Given the description of an element on the screen output the (x, y) to click on. 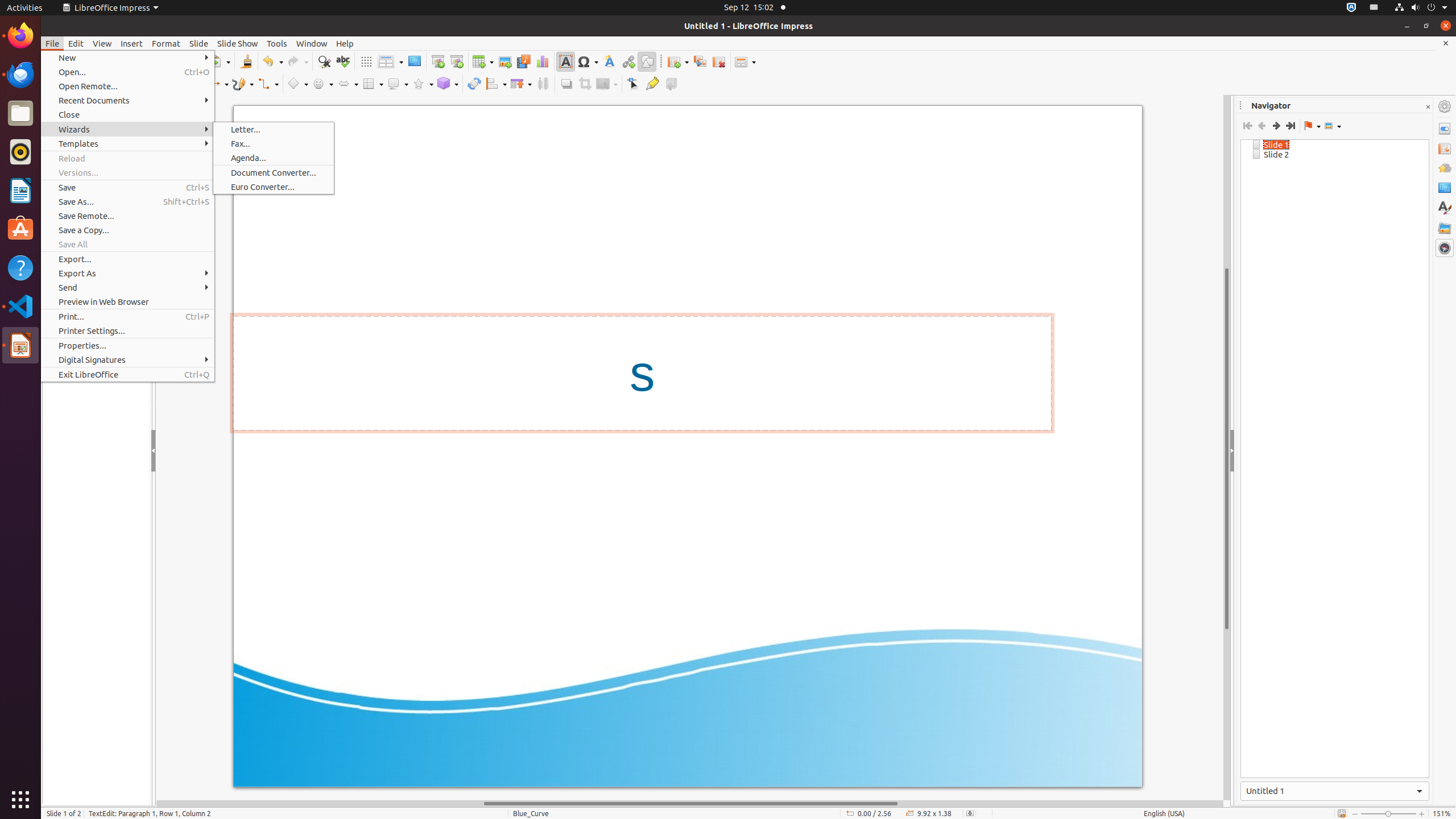
Previous Slide Element type: push-button (1261, 125)
LibreOffice Impress Element type: menu (109, 7)
Fax... Element type: menu-item (273, 143)
Horizontal scroll bar Element type: scroll-bar (689, 803)
